Given the description of an element on the screen output the (x, y) to click on. 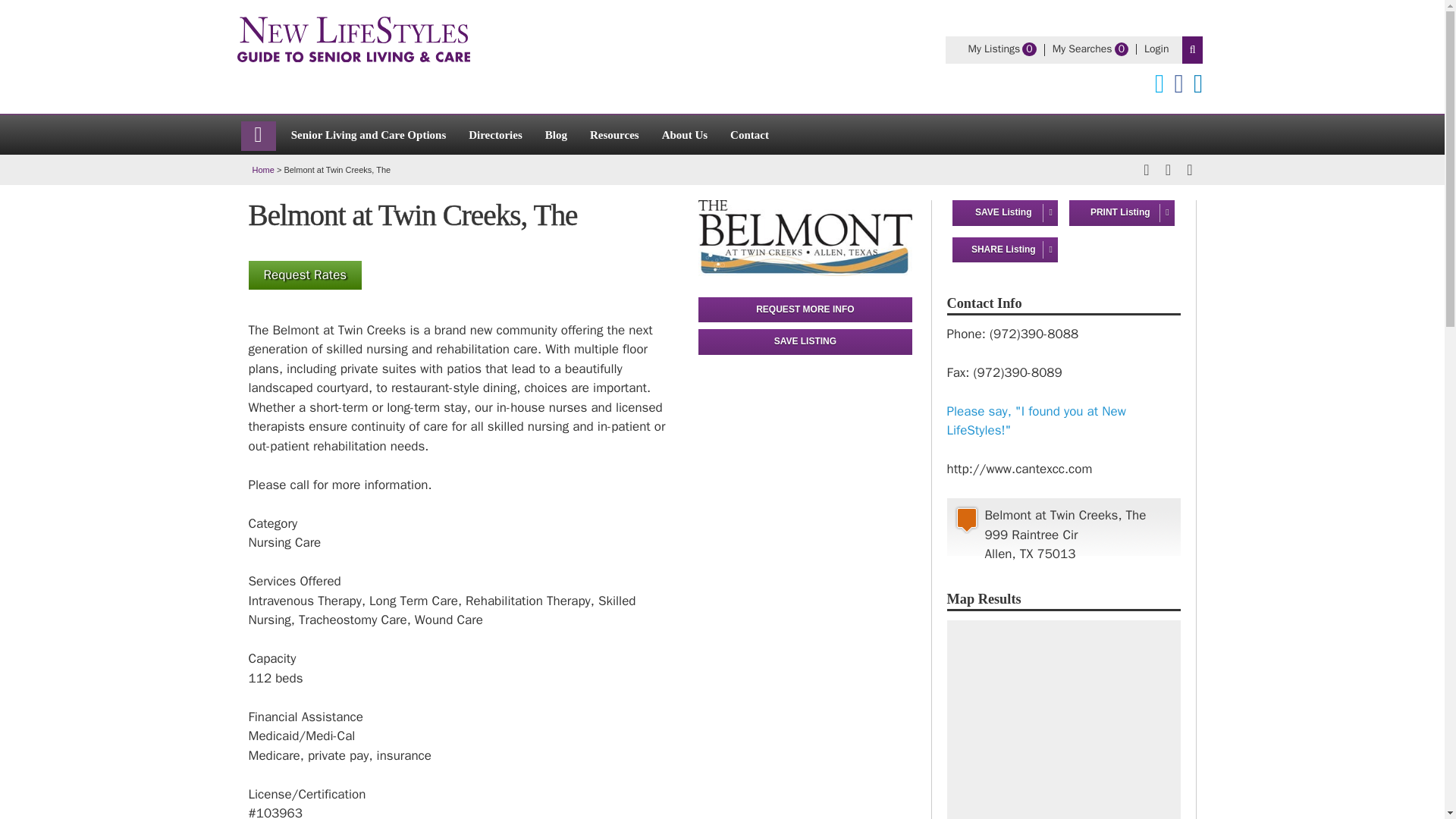
Home (262, 169)
Contact (749, 133)
Skip to content (1082, 48)
About Us (495, 133)
Resources (683, 133)
nls-logo (614, 133)
Senior Living and Care Options (351, 39)
Blog (368, 133)
Skip to content (556, 133)
Login (994, 48)
